Given the description of an element on the screen output the (x, y) to click on. 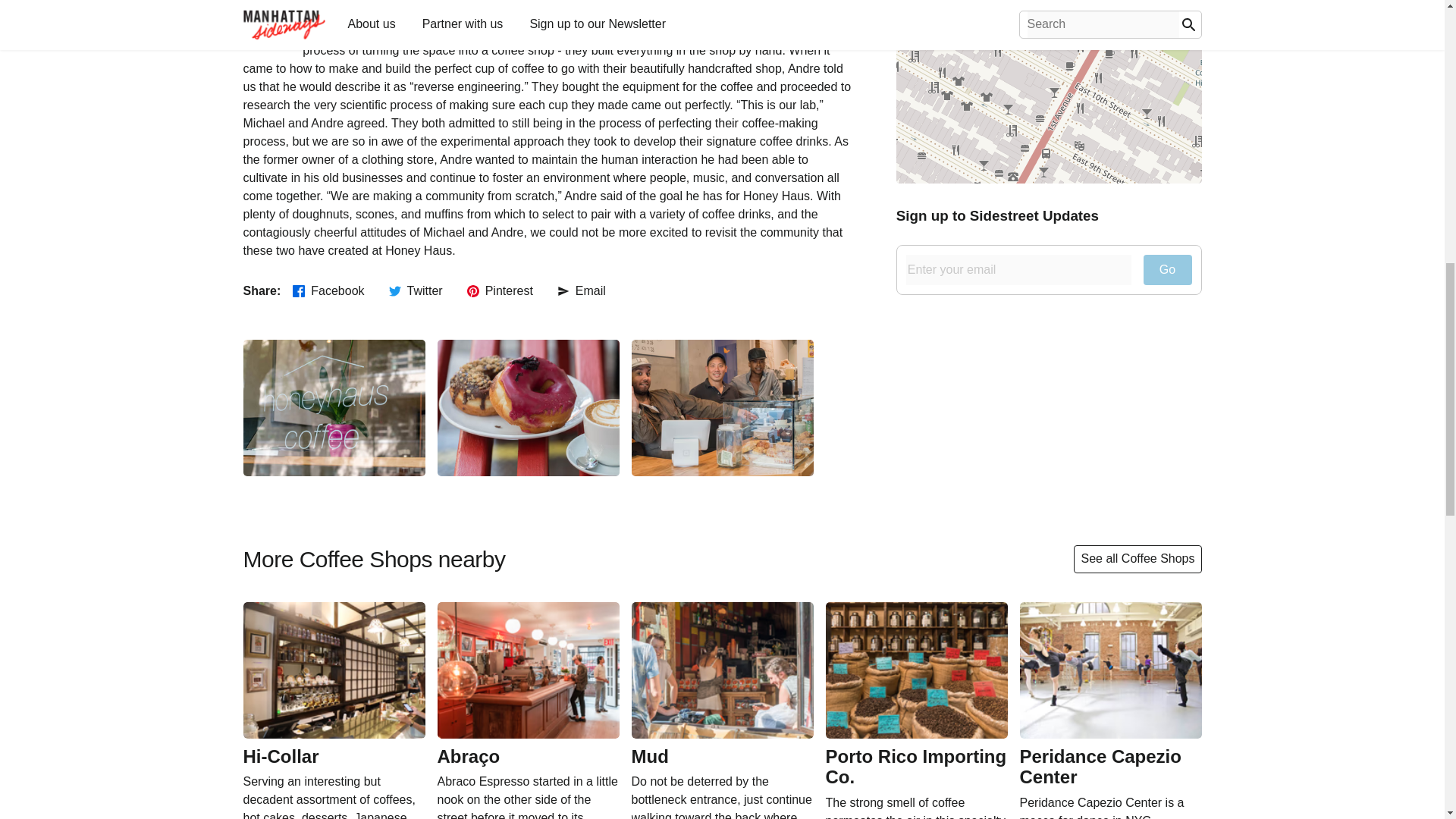
See all Coffee Shops (1137, 558)
Email (581, 291)
Pinterest (499, 291)
Facebook (328, 291)
Twitter (415, 291)
